Given the description of an element on the screen output the (x, y) to click on. 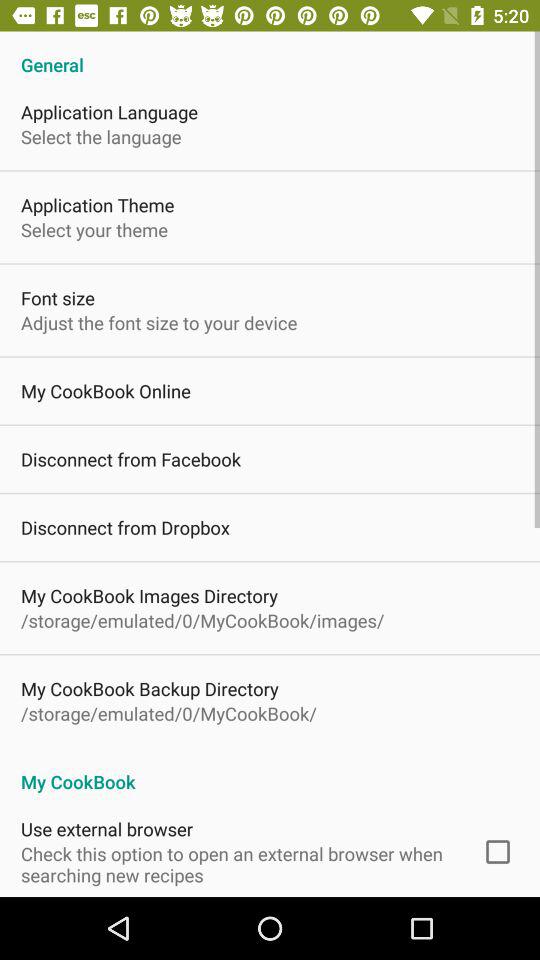
turn on item below use external browser (238, 864)
